Given the description of an element on the screen output the (x, y) to click on. 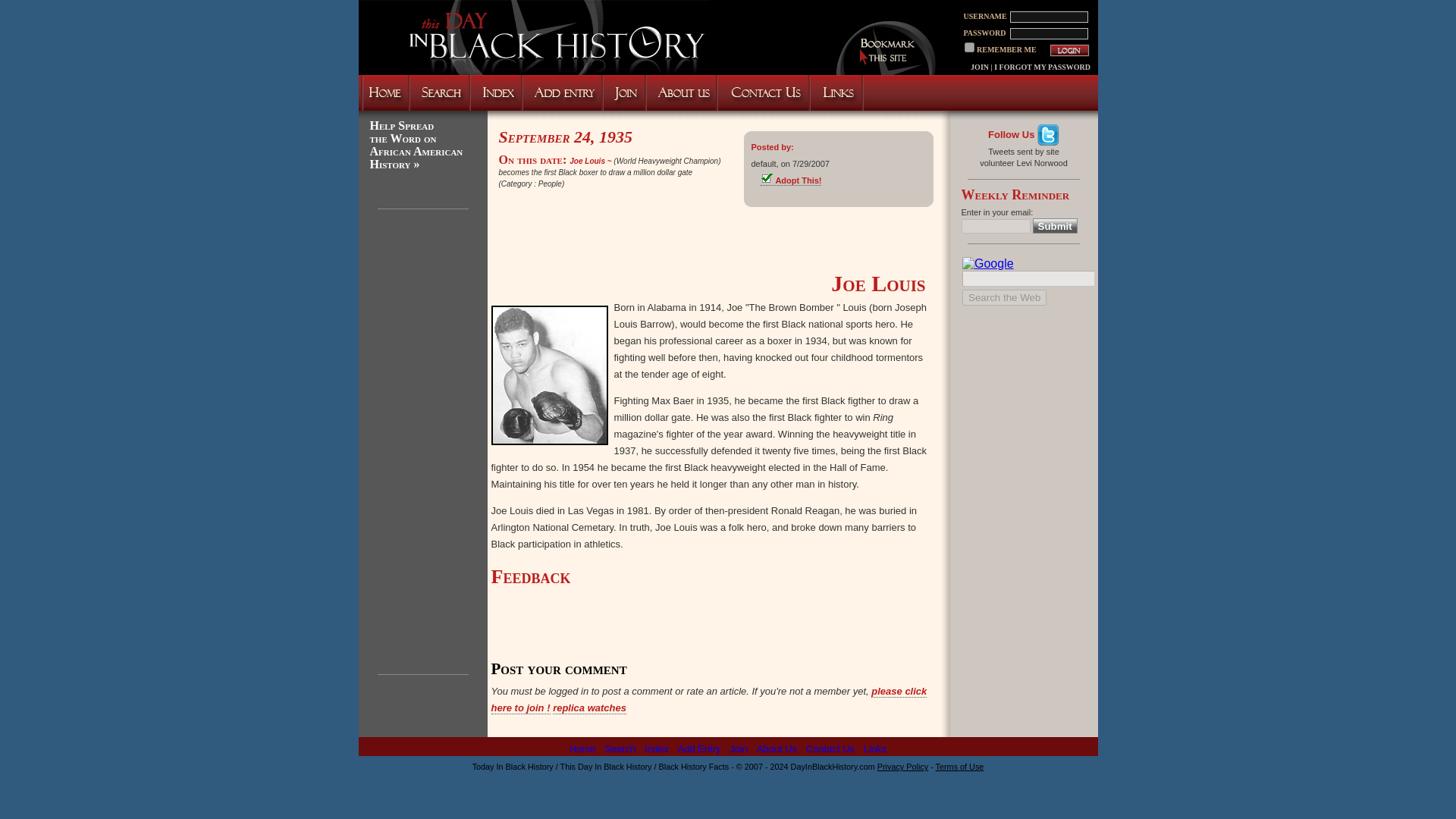
Join (738, 748)
please click here to join ! (709, 699)
Submit (1054, 225)
on (968, 47)
Advertisement (711, 631)
Contact Us (830, 748)
Add Entry (698, 748)
About Us (776, 748)
replica watches (589, 707)
I FORGOT MY PASSWORD (1042, 67)
Search (619, 748)
Home (582, 748)
Advertisement (711, 237)
Terms of Use (960, 766)
JOIN (979, 67)
